Given the description of an element on the screen output the (x, y) to click on. 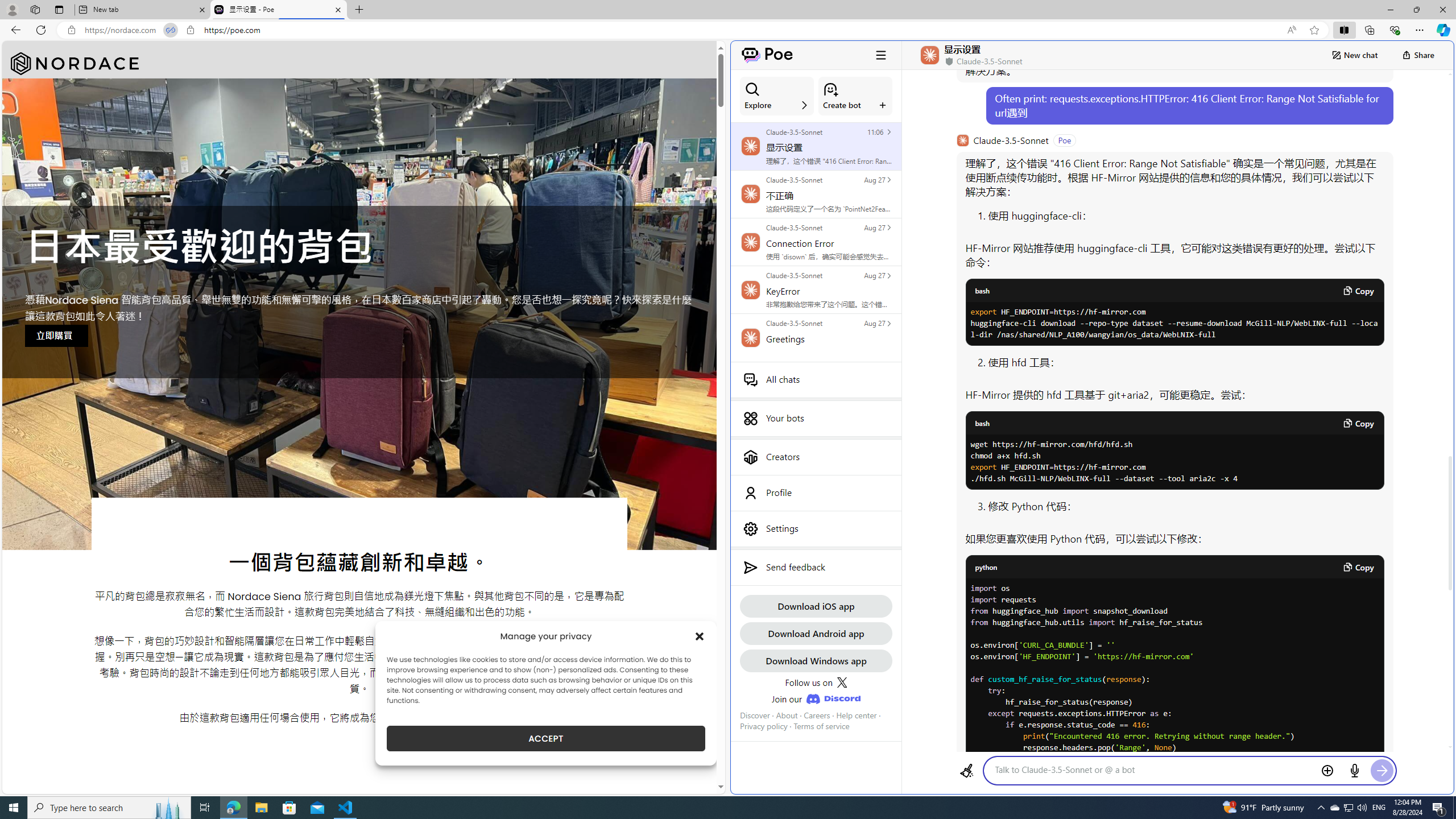
Help center (855, 714)
Class: ChatPrivacyIndicator_shieldIcon__4JelG (948, 61)
Talk to Claude-3.5-Sonnet or @ a bot (1152, 769)
Create bot (855, 95)
Privacy policy (763, 726)
Profile (815, 493)
